Given the description of an element on the screen output the (x, y) to click on. 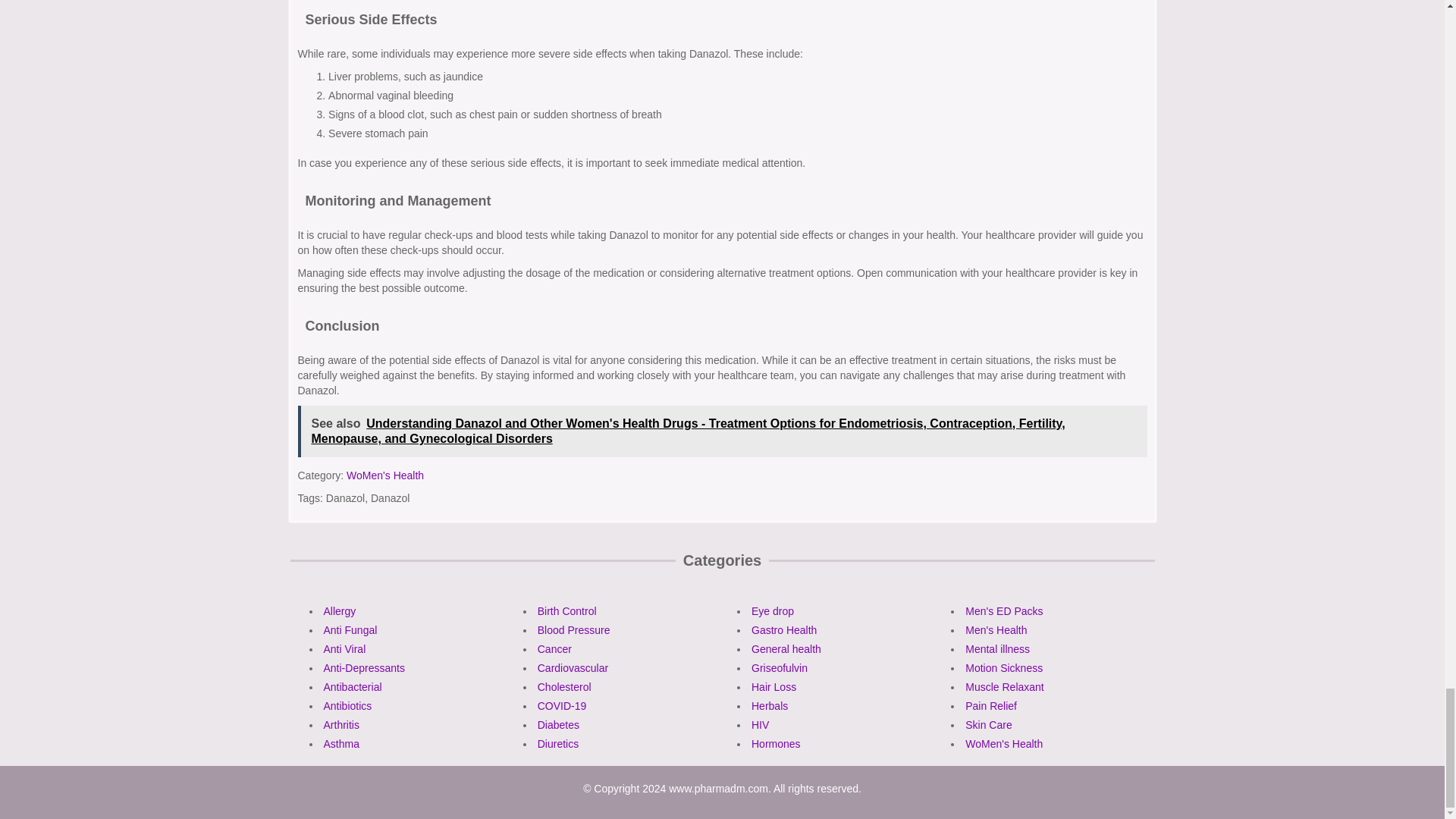
Hormones (775, 743)
Allergy (339, 611)
Diuretics (557, 743)
Cardiovascular (572, 667)
Herbals (769, 705)
Antibacterial (352, 686)
Antibiotics (347, 705)
Gastro Health (783, 630)
Arthritis (340, 725)
Men's ED Packs (1003, 611)
COVID-19 (561, 705)
Cancer (554, 648)
Anti Fungal (350, 630)
Diabetes (558, 725)
